Given the description of an element on the screen output the (x, y) to click on. 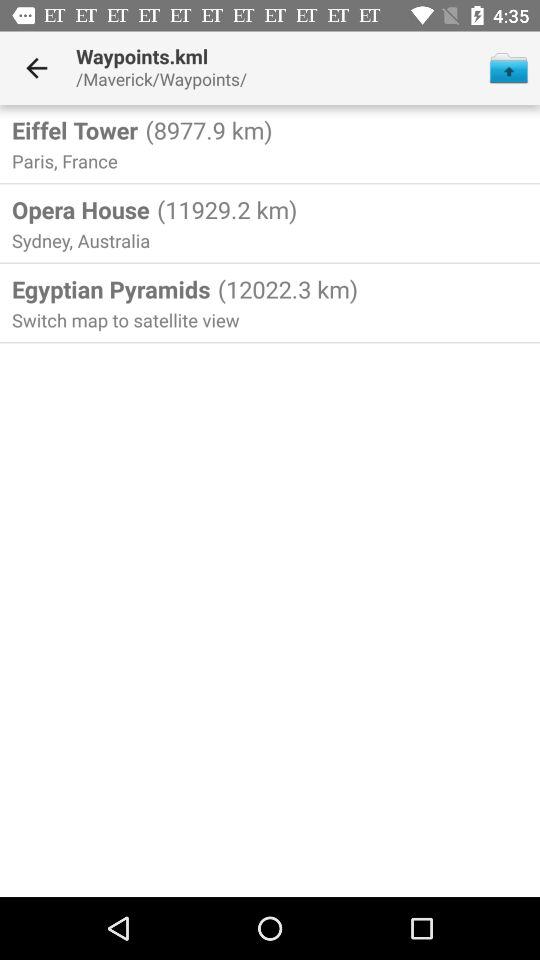
open the item above sydney, australia  item (80, 209)
